Given the description of an element on the screen output the (x, y) to click on. 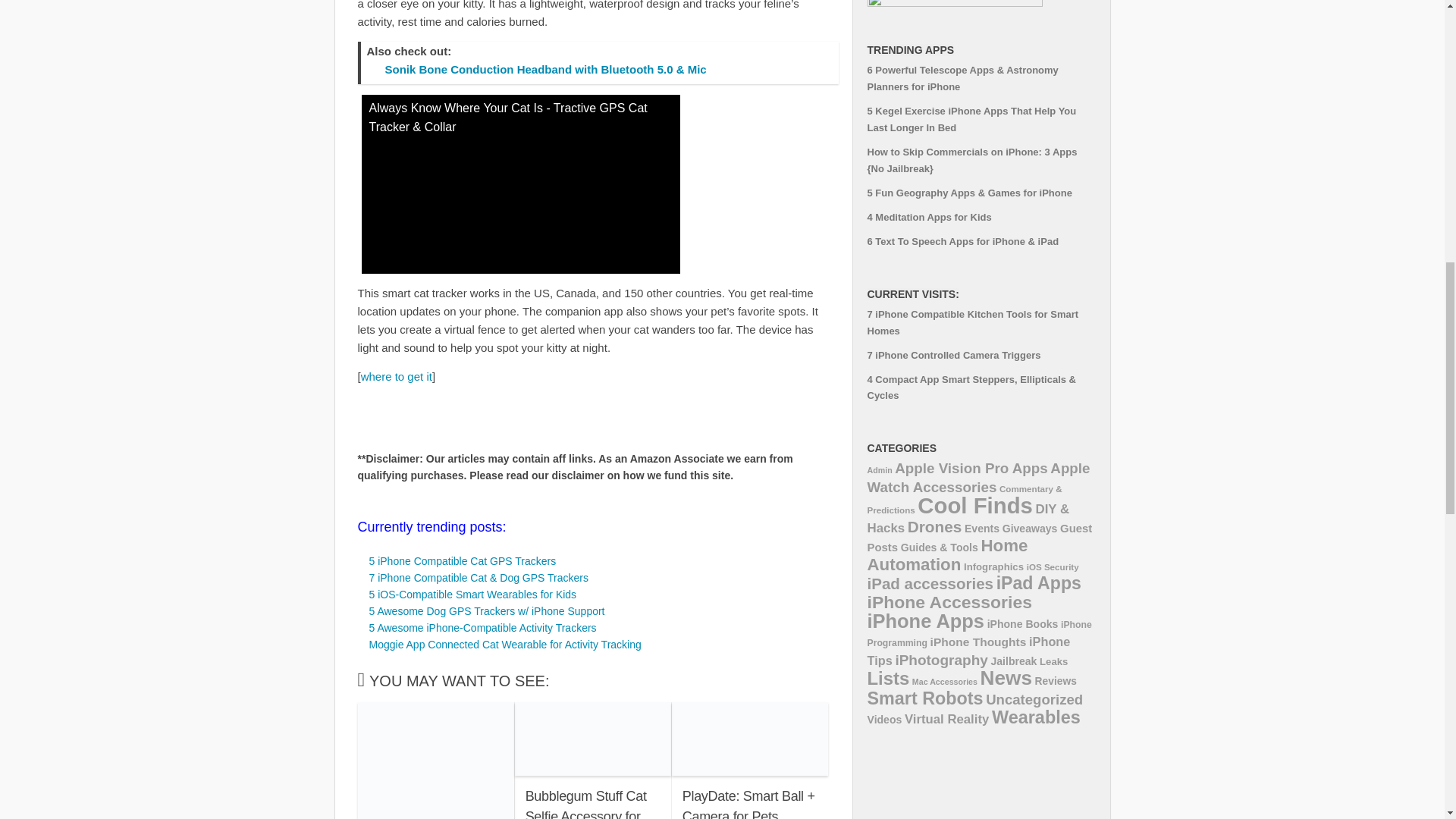
5 iOS-Compatible Smart Wearables for Kids (472, 594)
5 iPhone Compatible Cat GPS Trackers (462, 561)
